Given the description of an element on the screen output the (x, y) to click on. 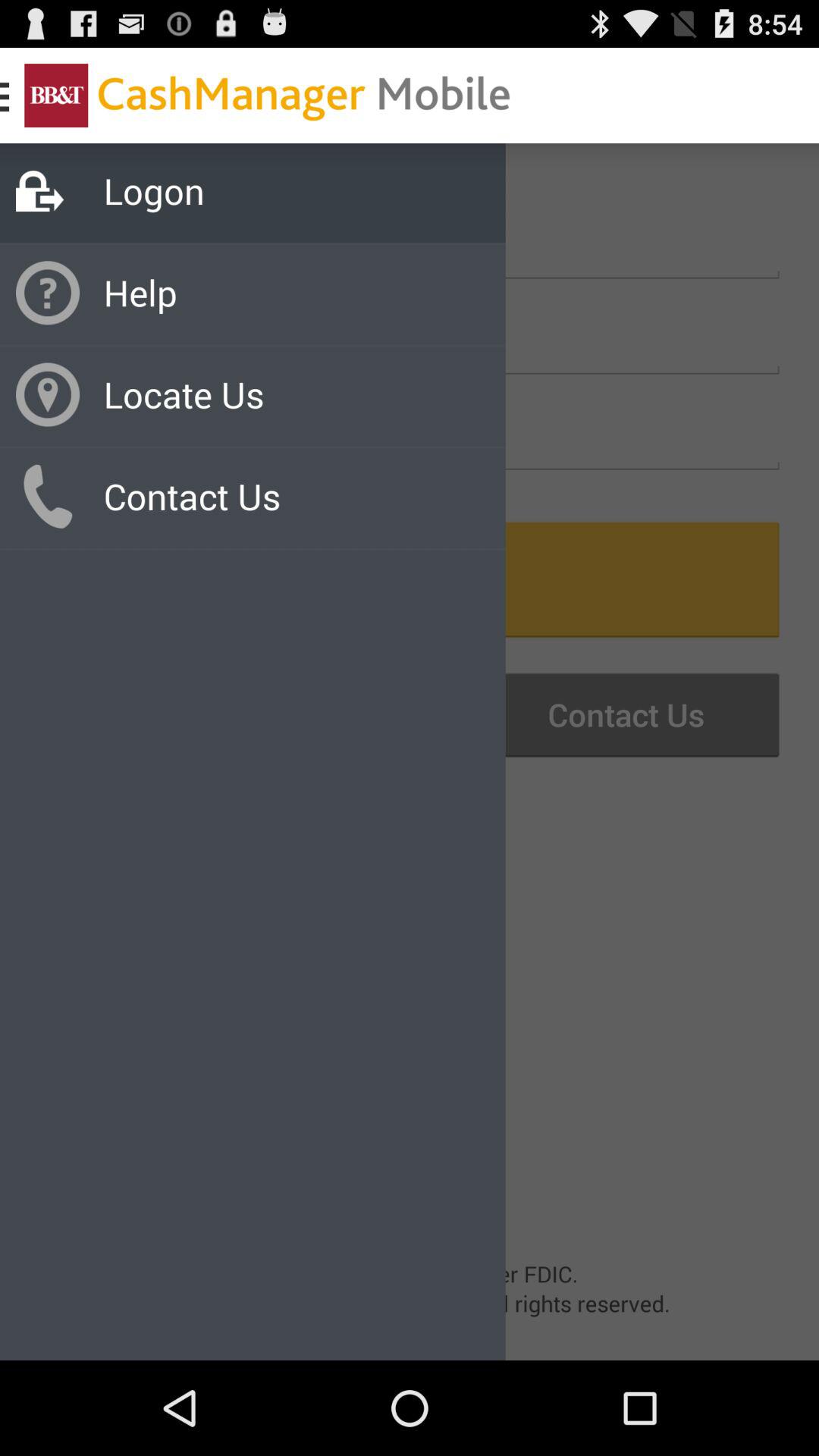
click on contact us at bottom right corner (606, 714)
